Given the description of an element on the screen output the (x, y) to click on. 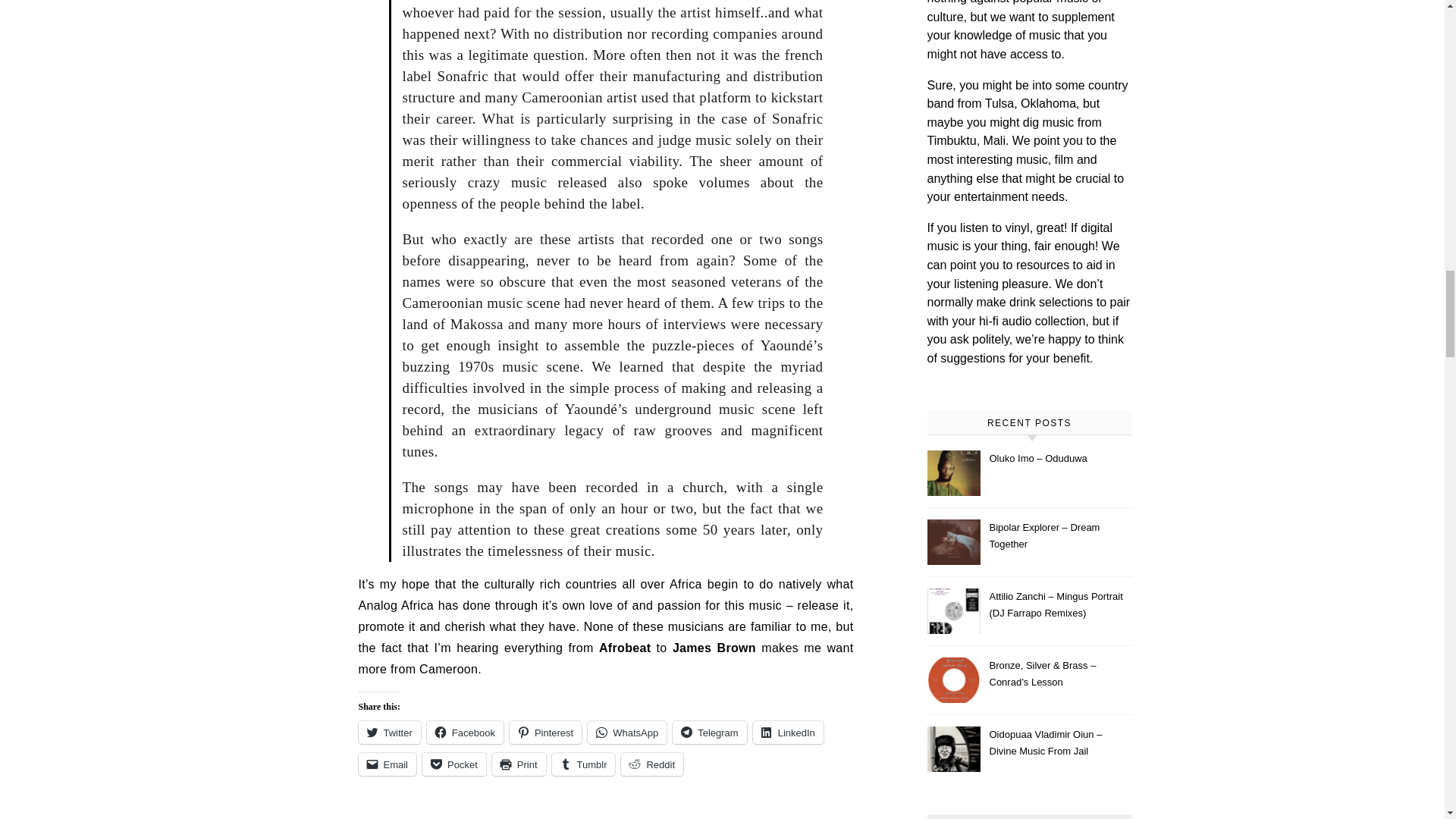
Click to print (519, 763)
Click to share on Pocket (454, 763)
Click to share on Telegram (708, 732)
Pocket (454, 763)
Tumblr (583, 763)
Click to email a link to a friend (387, 763)
Click to share on Reddit (651, 763)
Print (519, 763)
LinkedIn (788, 732)
Facebook (464, 732)
WhatsApp (627, 732)
Twitter (389, 732)
Click to share on Facebook (464, 732)
Pinterest (544, 732)
Telegram (708, 732)
